Given the description of an element on the screen output the (x, y) to click on. 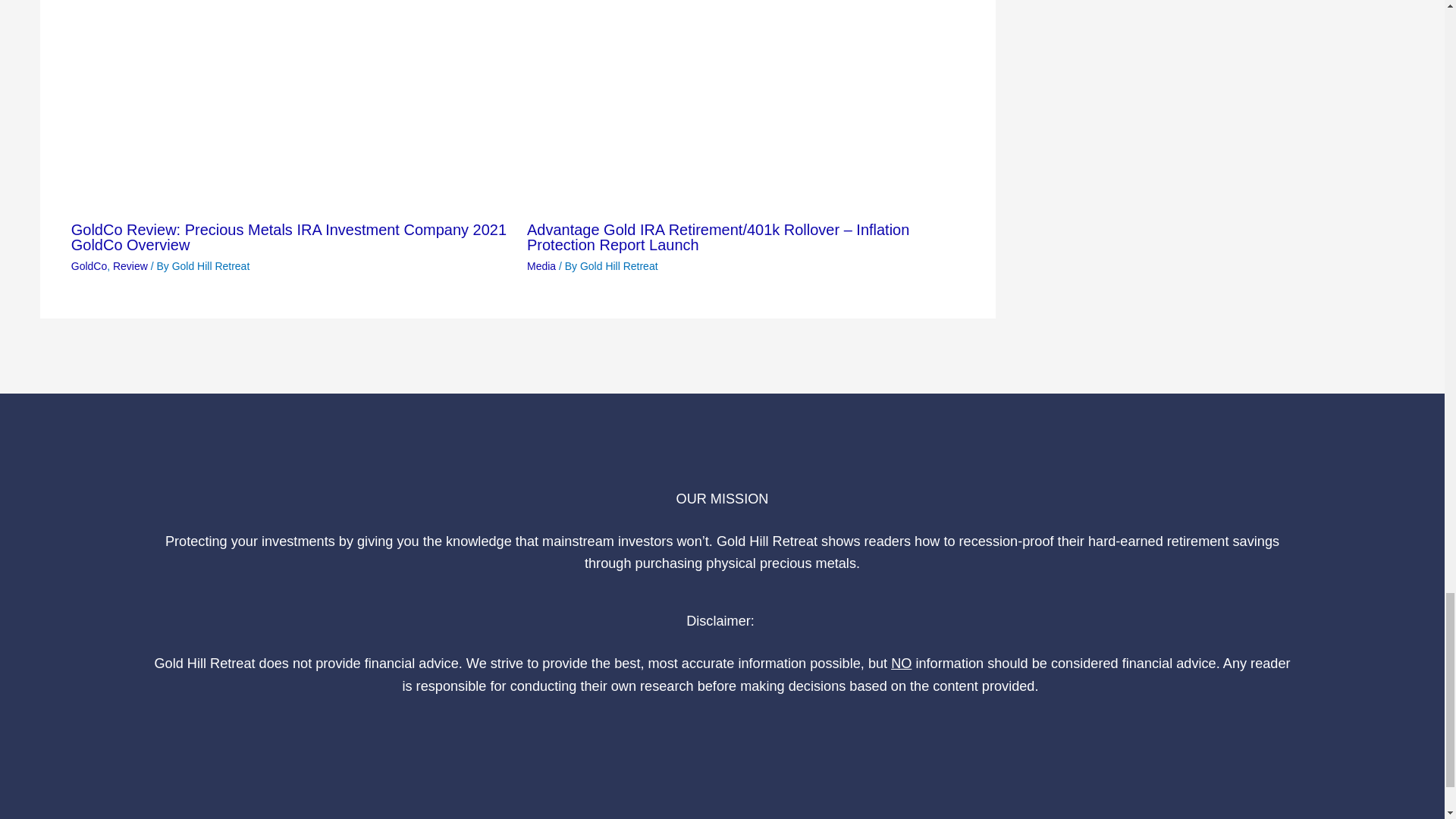
View all posts by Gold Hill Retreat (618, 265)
Media (541, 265)
Review (130, 265)
Gold Hill Retreat (618, 265)
Gold Hill Retreat (210, 265)
GoldCo (88, 265)
View all posts by Gold Hill Retreat (210, 265)
